Given the description of an element on the screen output the (x, y) to click on. 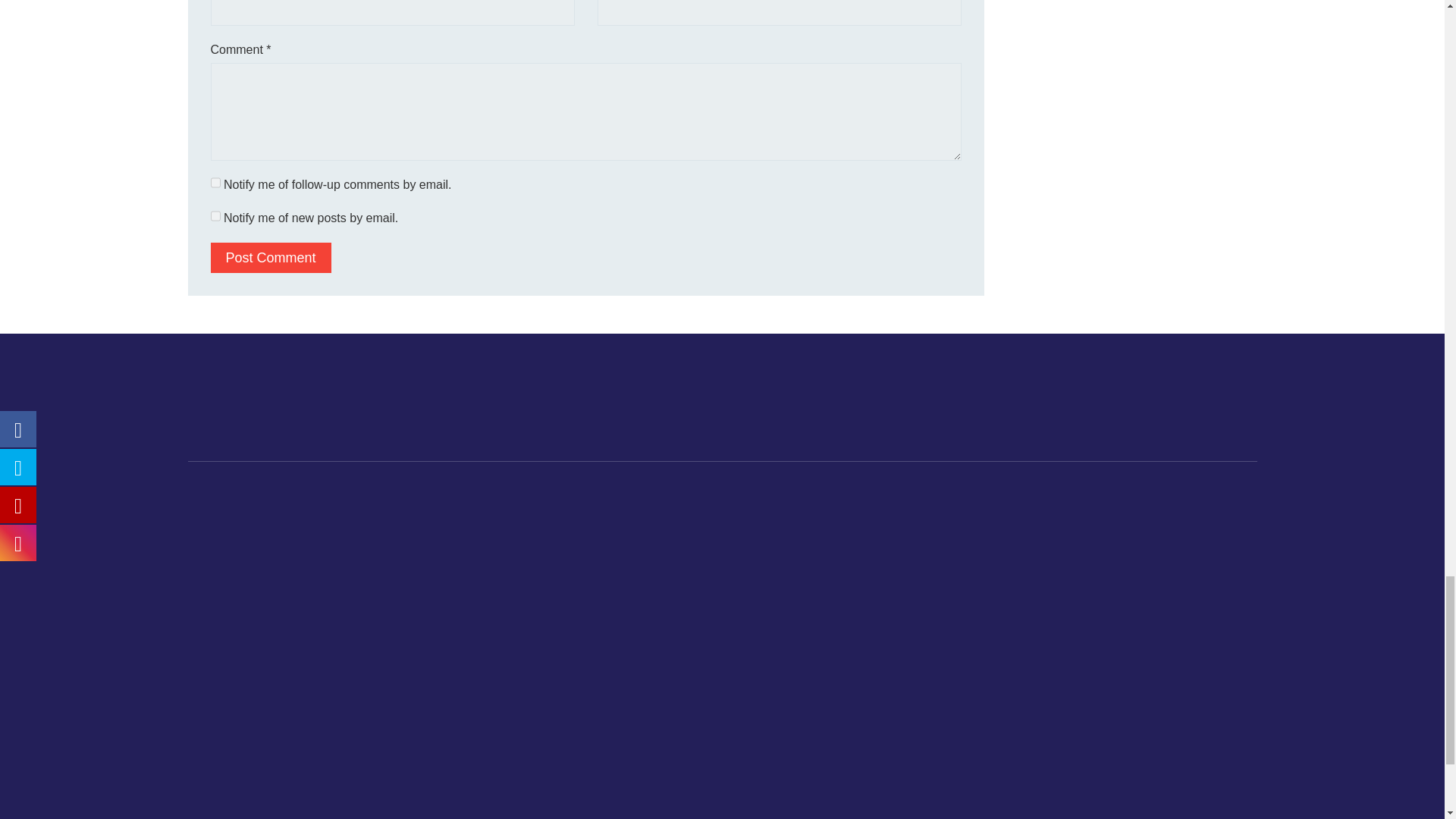
Post Comment (271, 257)
